Given the description of an element on the screen output the (x, y) to click on. 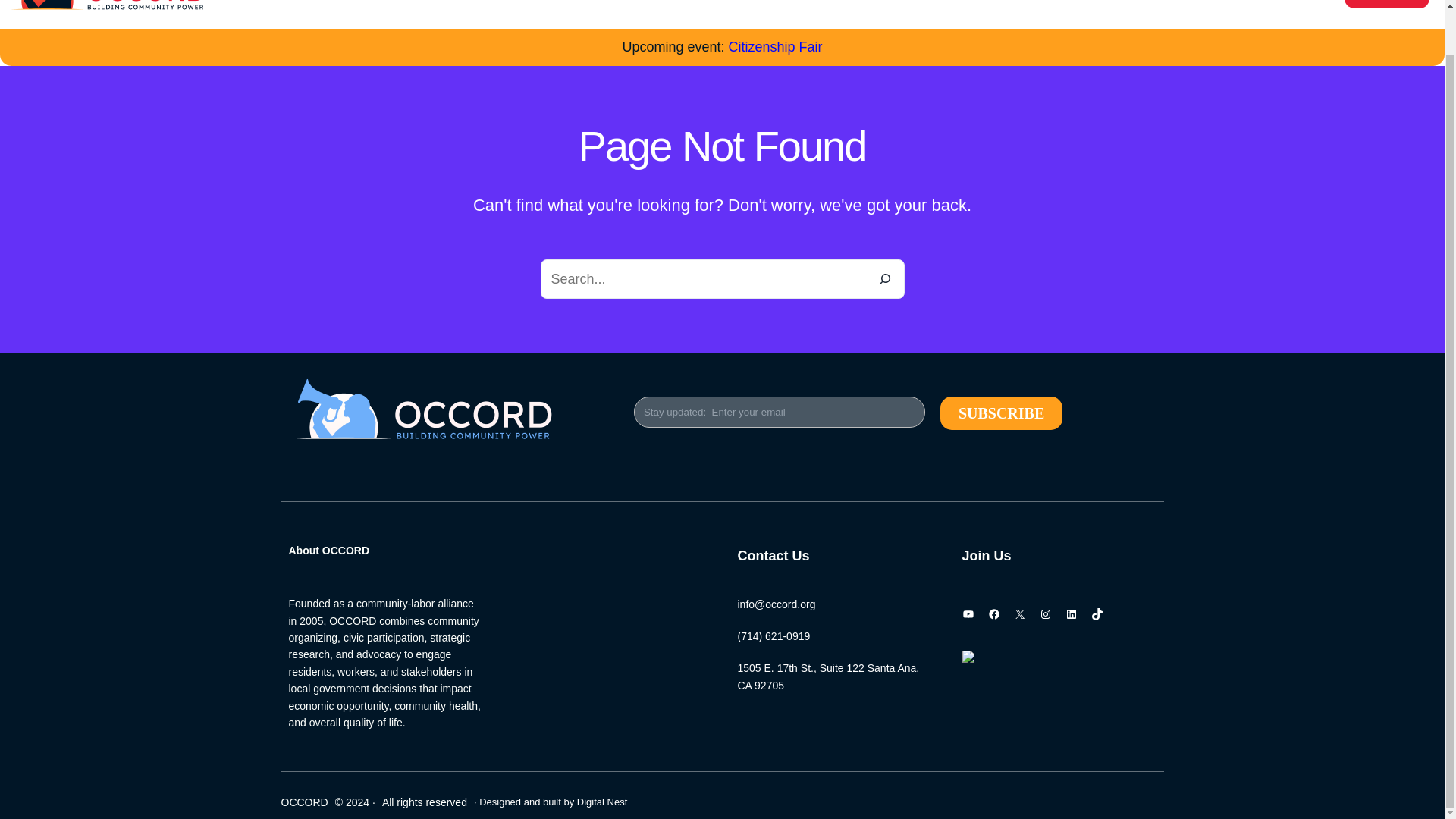
Donate (1386, 4)
Resources (910, 0)
X (1019, 613)
SUBSCRIBE (1001, 412)
Citizenship (1003, 0)
About Us (689, 0)
TikTok (1096, 613)
Citizenship Fair (775, 46)
LinkedIn (1070, 613)
Instagram (1045, 613)
YouTube (967, 613)
1505 E. 17th St., Suite 122 Santa Ana, CA 92705 (827, 676)
OCCORD (304, 802)
Facebook (992, 613)
